Given the description of an element on the screen output the (x, y) to click on. 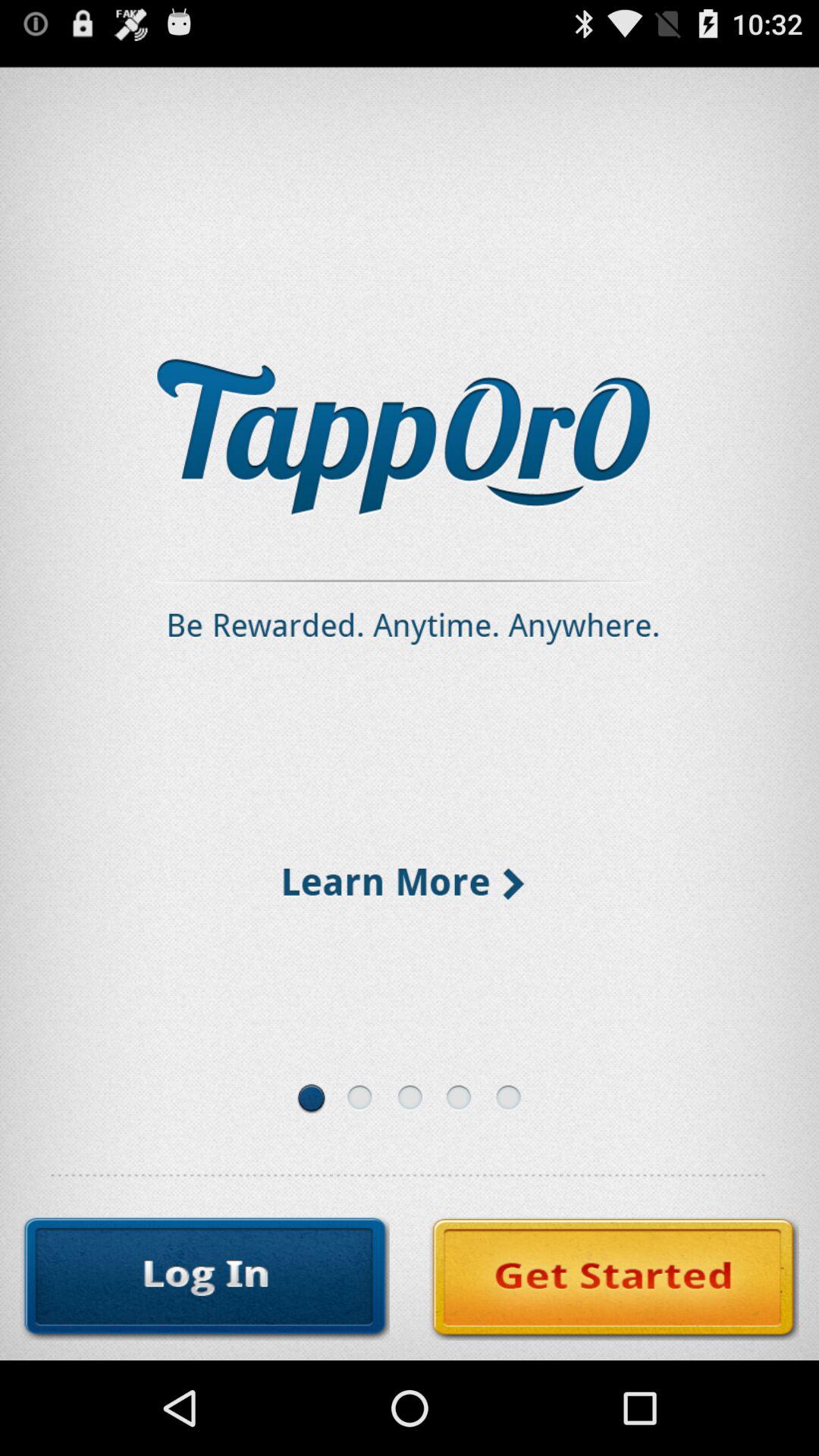
log in to service (204, 1278)
